Given the description of an element on the screen output the (x, y) to click on. 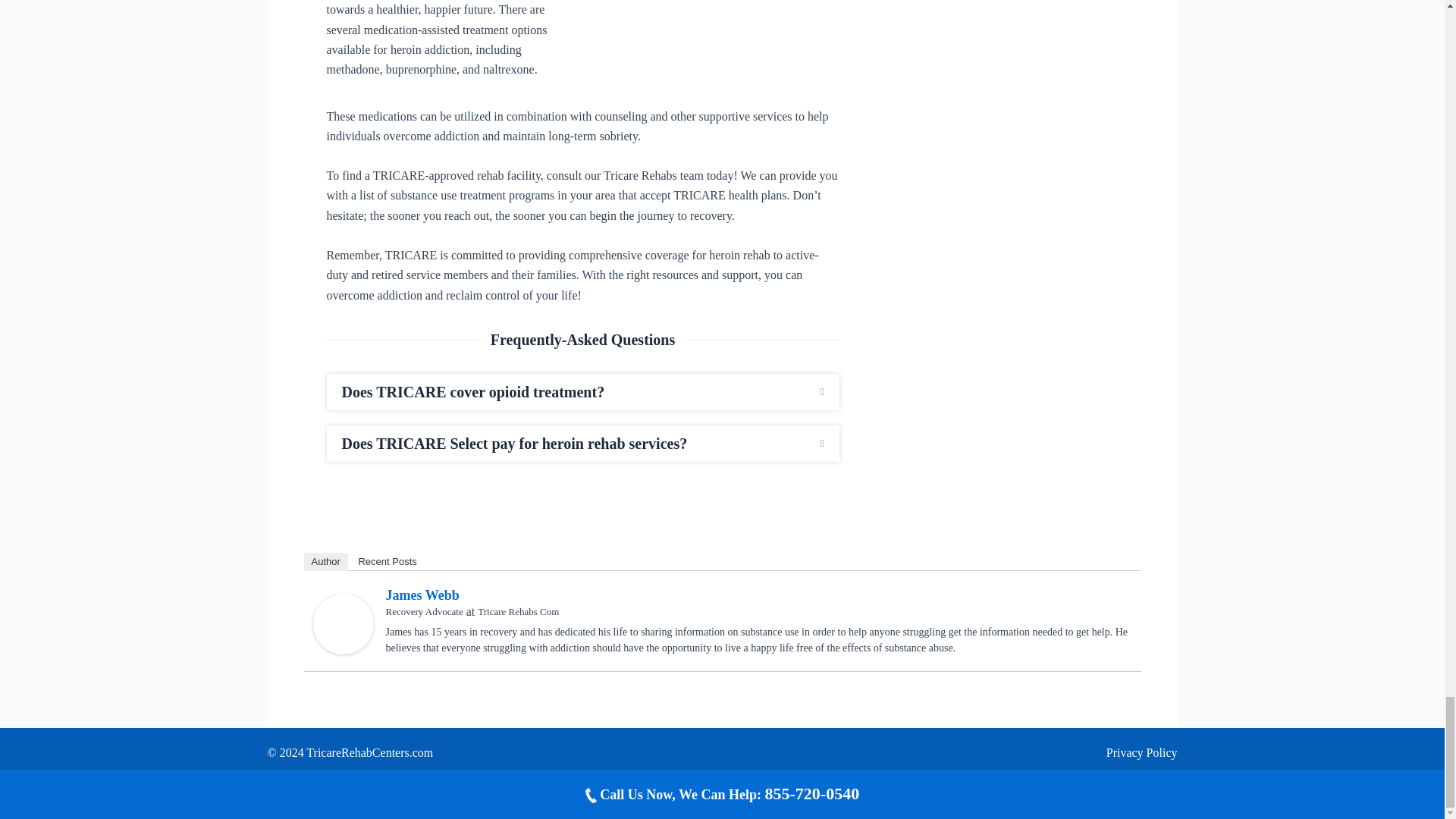
James Webb (342, 622)
Understanding 5 (717, 30)
